Given the description of an element on the screen output the (x, y) to click on. 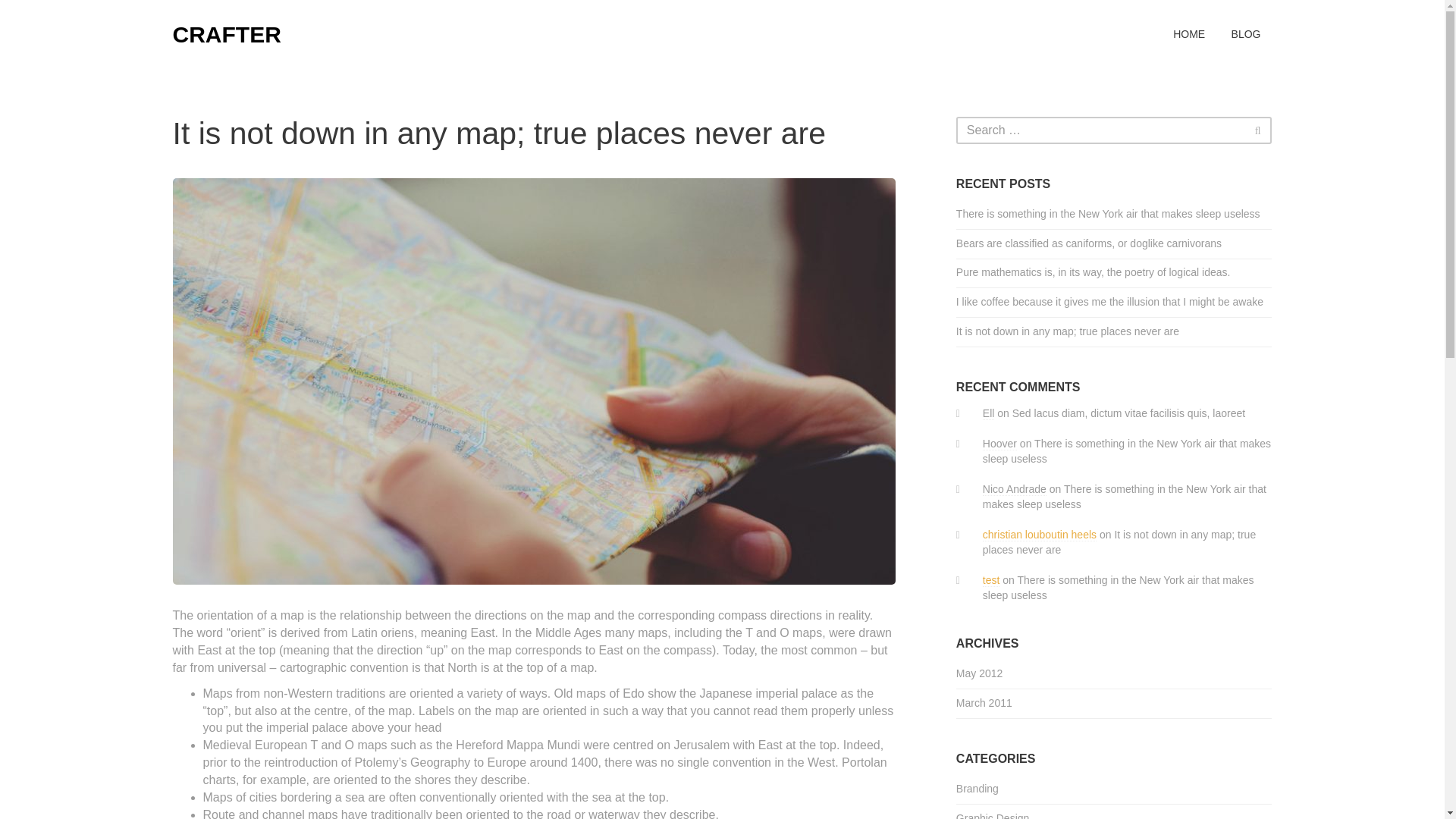
Blog (1246, 34)
Sed lacus diam, dictum vitae facilisis quis, laoreet (1127, 413)
Branding (977, 788)
HOME (1188, 34)
BLOG (1246, 34)
Bears are classified as caniforms, or doglike carnivorans (1114, 244)
Graphic Design (992, 811)
